Given the description of an element on the screen output the (x, y) to click on. 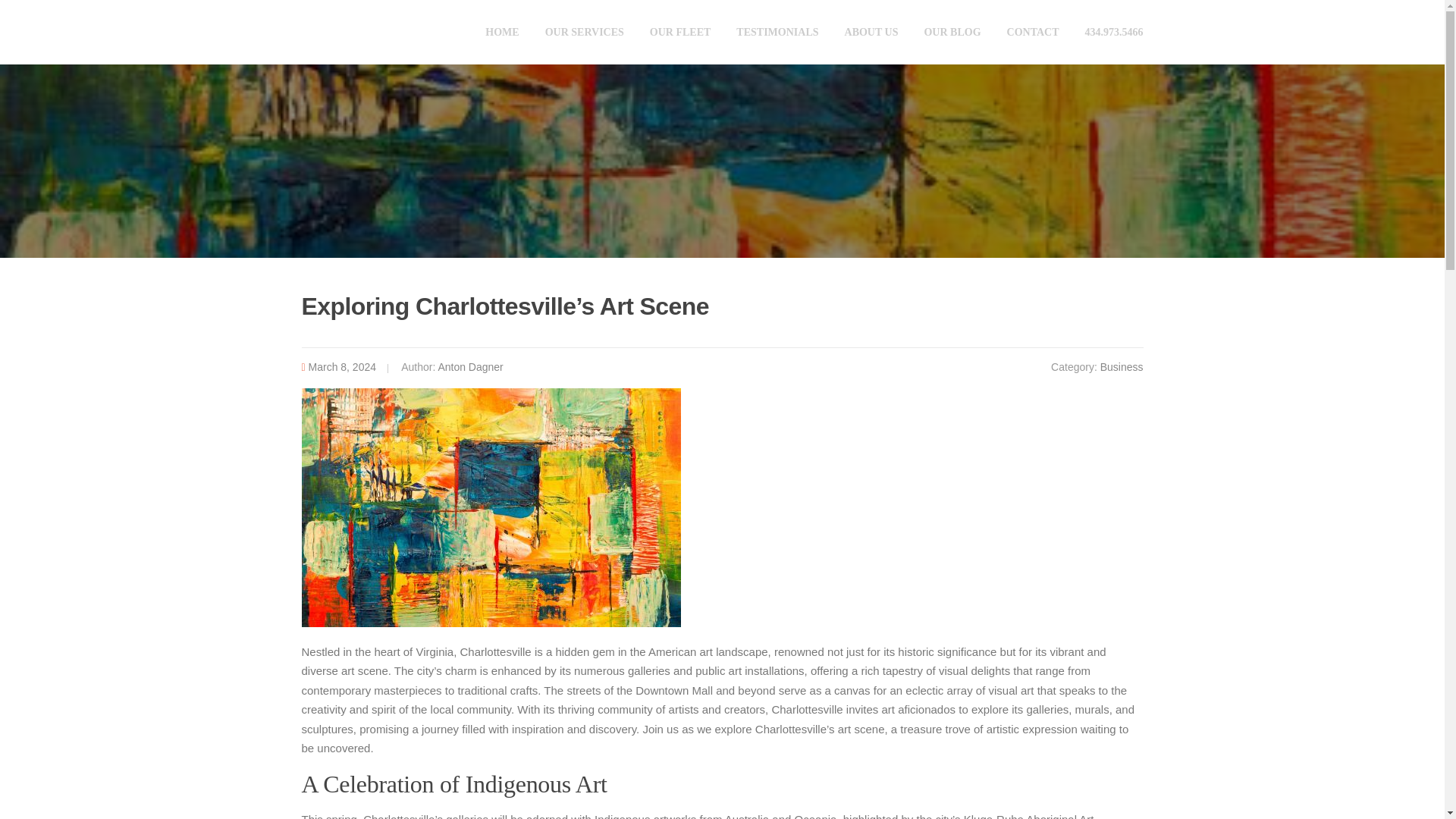
Business (1121, 367)
OUR BLOG (951, 32)
HOME (501, 32)
434.973.5466 (1106, 32)
CONTACT (1032, 32)
ABOUT US (871, 32)
Anton Dagner (470, 367)
TESTIMONIALS (777, 32)
March 8, 2024 (342, 367)
OUR SERVICES (584, 32)
OUR FLEET (680, 32)
